Given the description of an element on the screen output the (x, y) to click on. 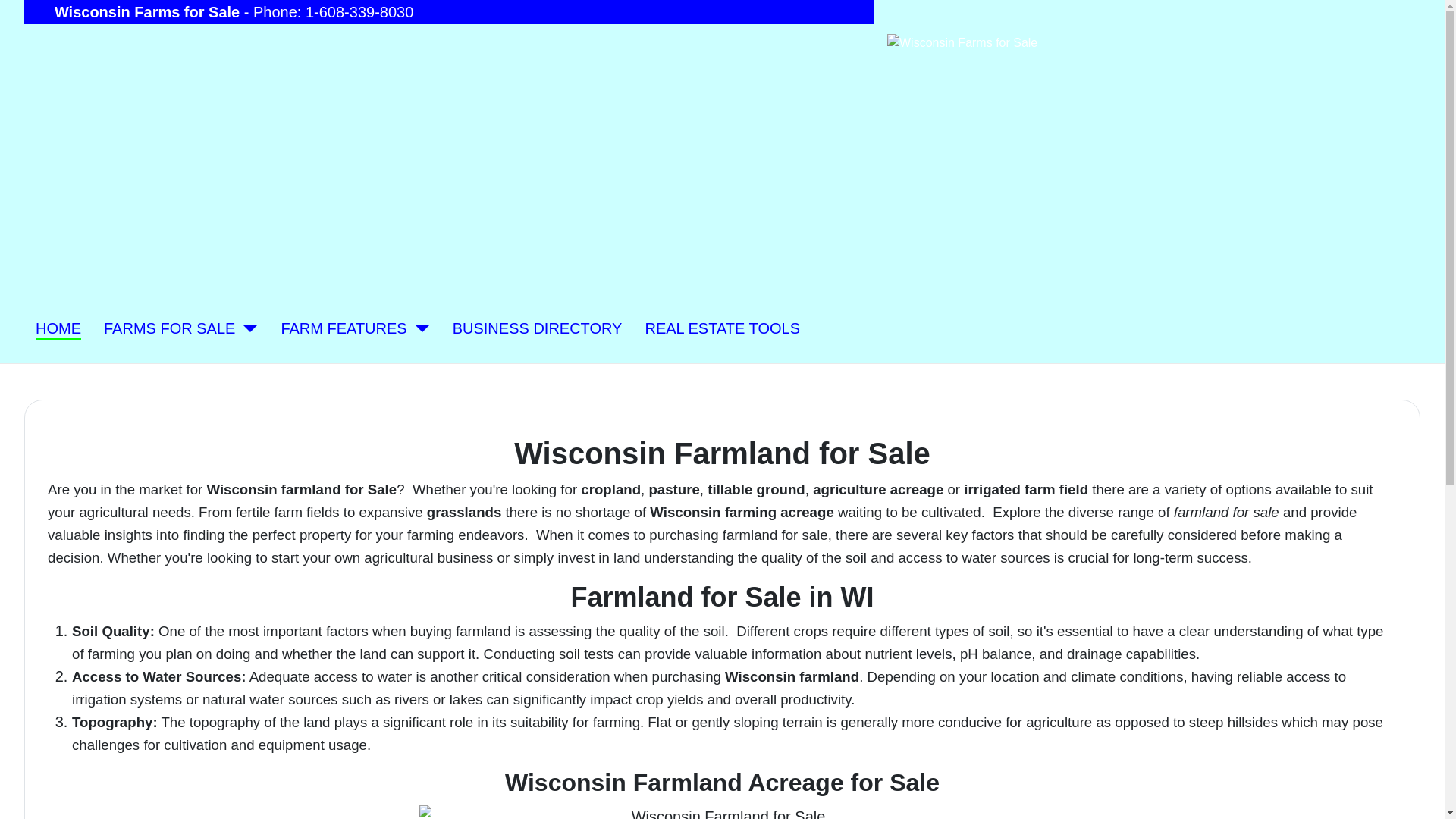
Landman Realty LLC Social Media Icon Links (416, 45)
REAL ESTATE TOOLS (722, 327)
FARMS FOR SALE (168, 327)
Real Estate TOOLS (722, 327)
HOME (57, 327)
Wisconsin Farms for Sale (57, 327)
Network Banner Ads (227, 218)
Wisconsin Farms for Sale (168, 327)
BUSINESS DIRECTORY (537, 327)
FARM FEATURES (343, 327)
Farm Type Search (343, 327)
